Given the description of an element on the screen output the (x, y) to click on. 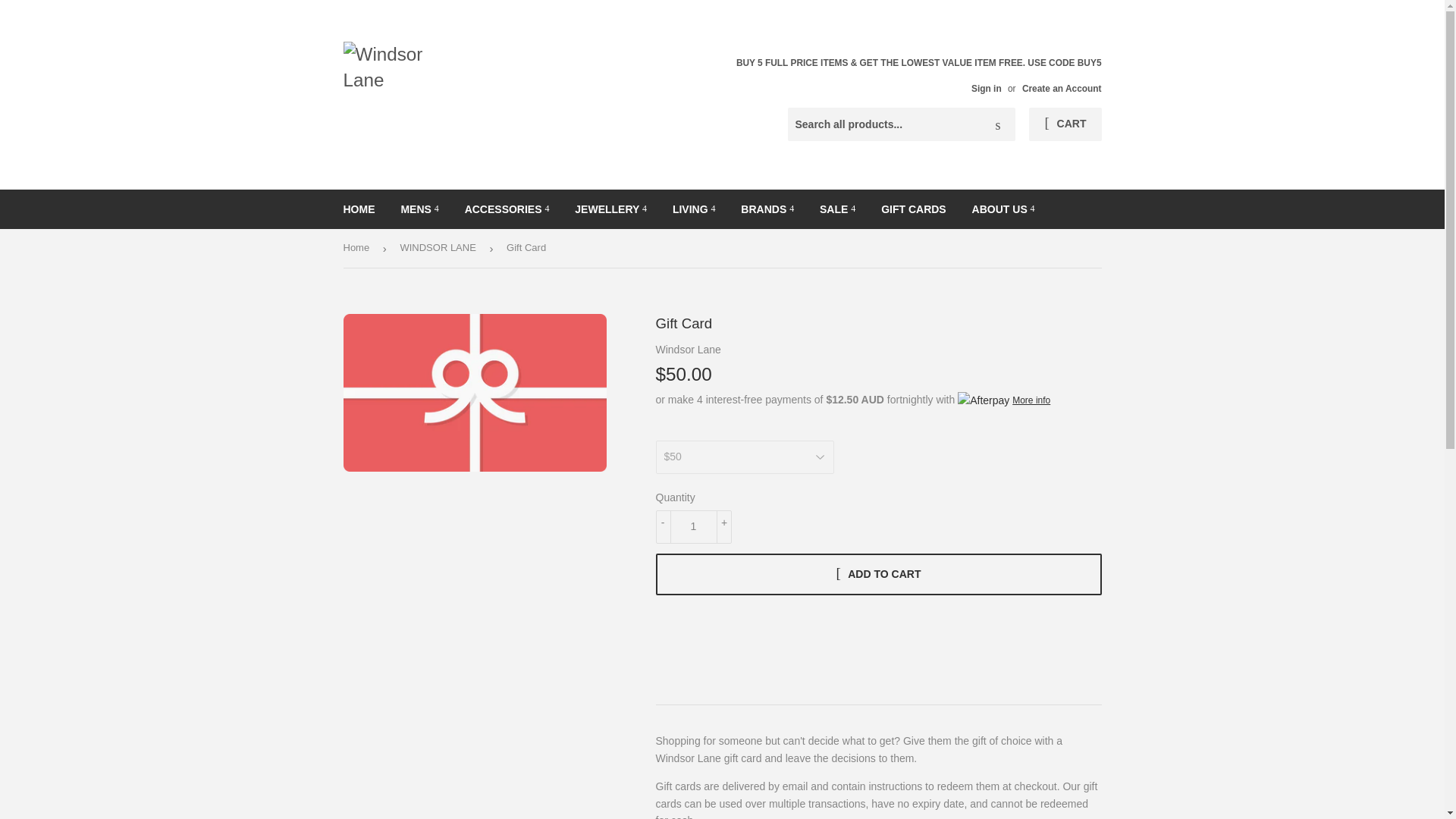
Create an Account (1062, 88)
Sign in (986, 88)
1 (692, 526)
CART (1064, 123)
Search (997, 124)
